Given the description of an element on the screen output the (x, y) to click on. 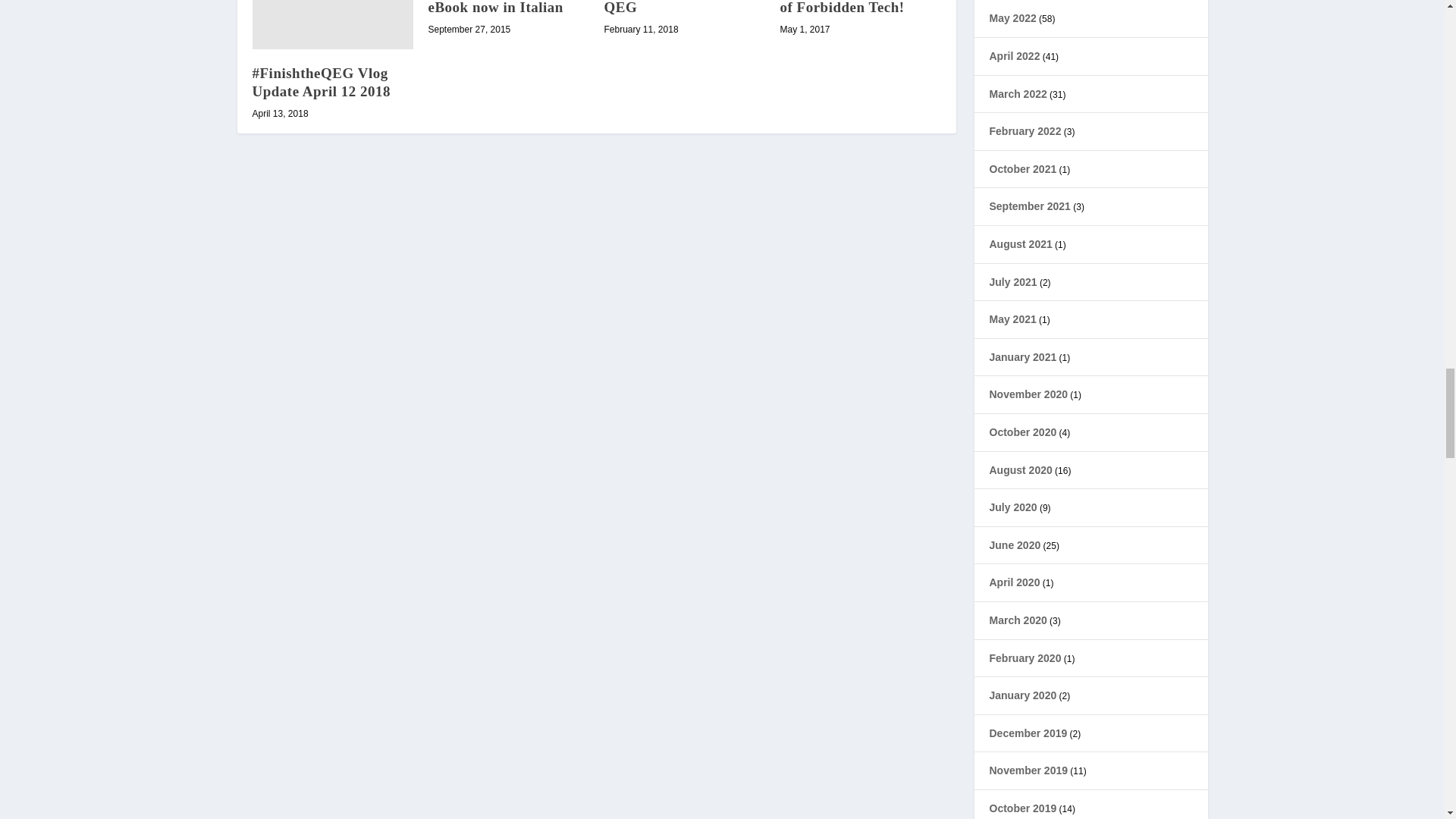
Announcing the Launch of Forbidden Tech! (857, 7)
QEG Free Manual and eBook now in Italian (502, 7)
Campaign to Finish the QEG (680, 7)
